Given the description of an element on the screen output the (x, y) to click on. 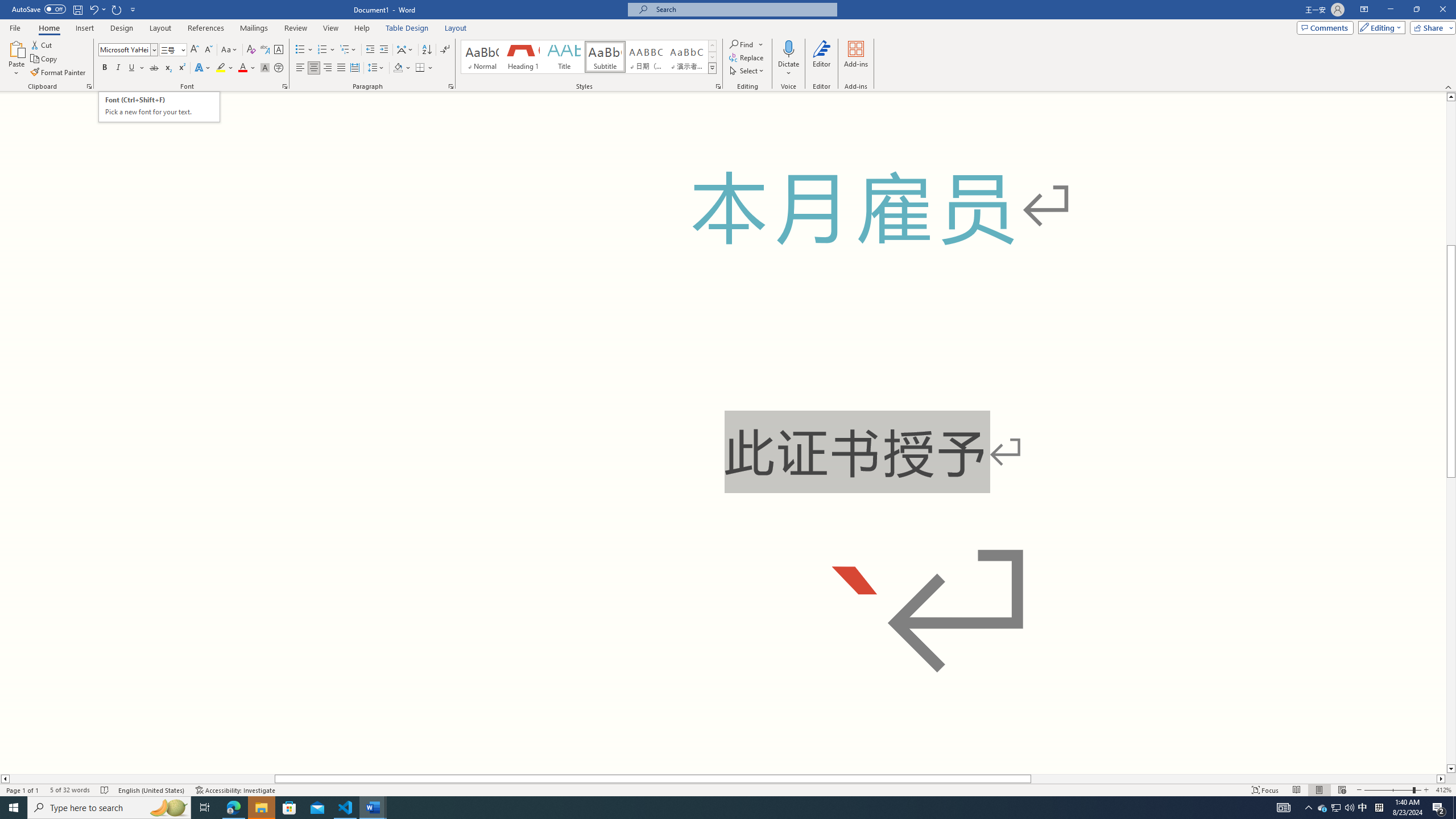
Repeat Doc Close (117, 9)
Page 1 content (722, 432)
Microsoft search (742, 9)
Zoom 412% (1443, 790)
